Given the description of an element on the screen output the (x, y) to click on. 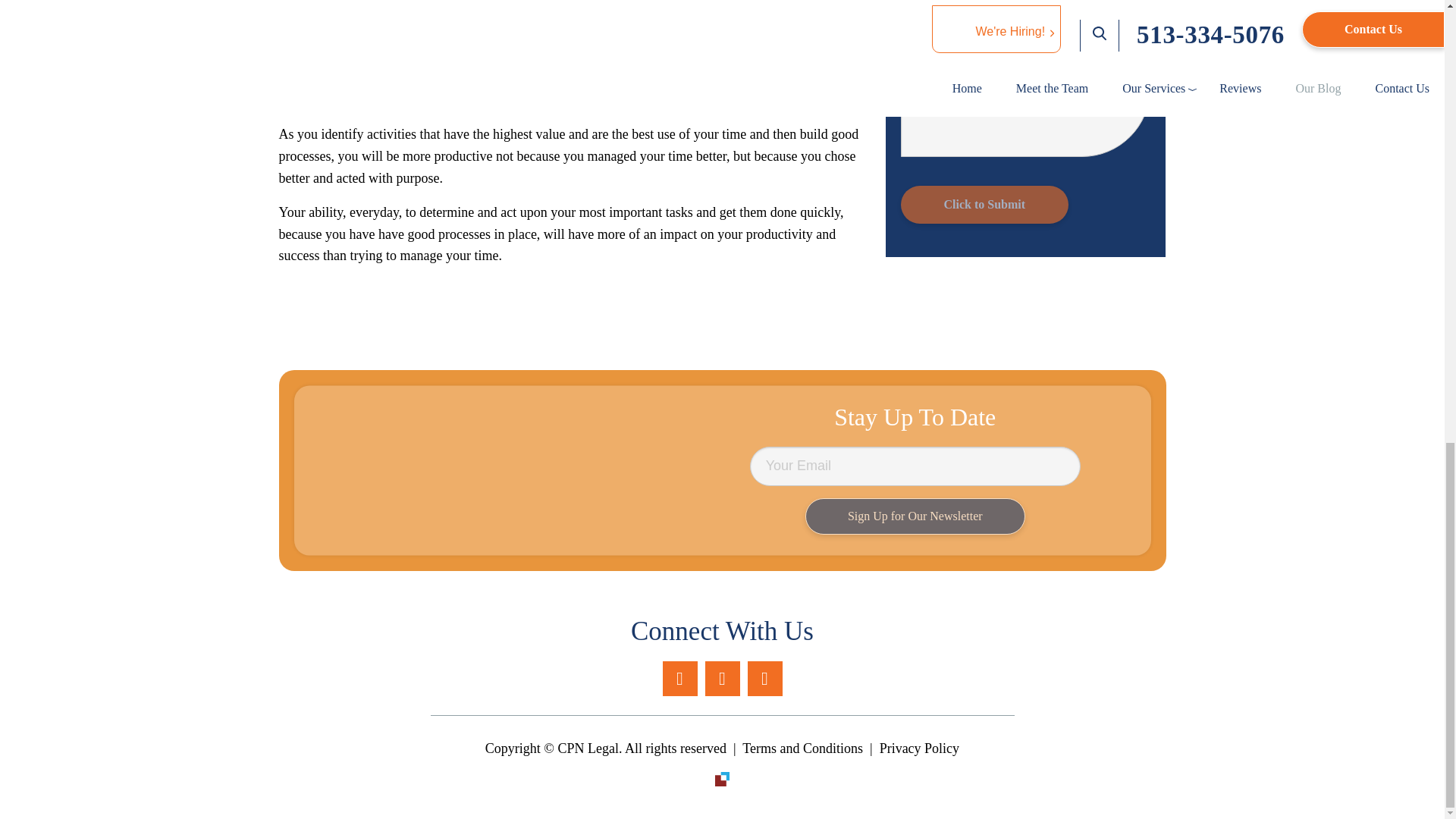
Sign Up for Our Newsletter (915, 515)
Privacy Policy (919, 748)
Click to Submit (984, 83)
Terms and Conditions (802, 748)
